Given the description of an element on the screen output the (x, y) to click on. 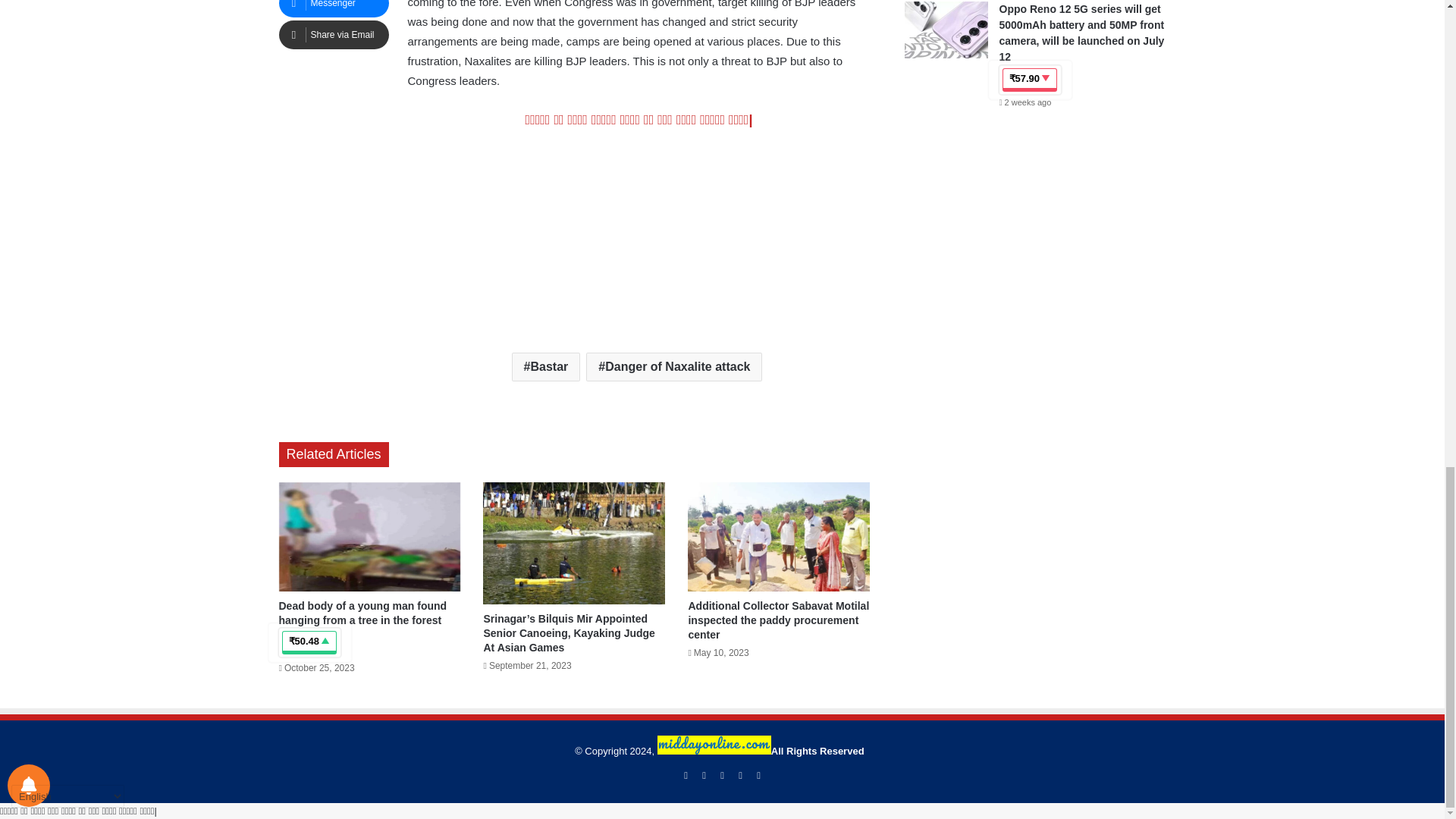
Messenger (333, 8)
